Given the description of an element on the screen output the (x, y) to click on. 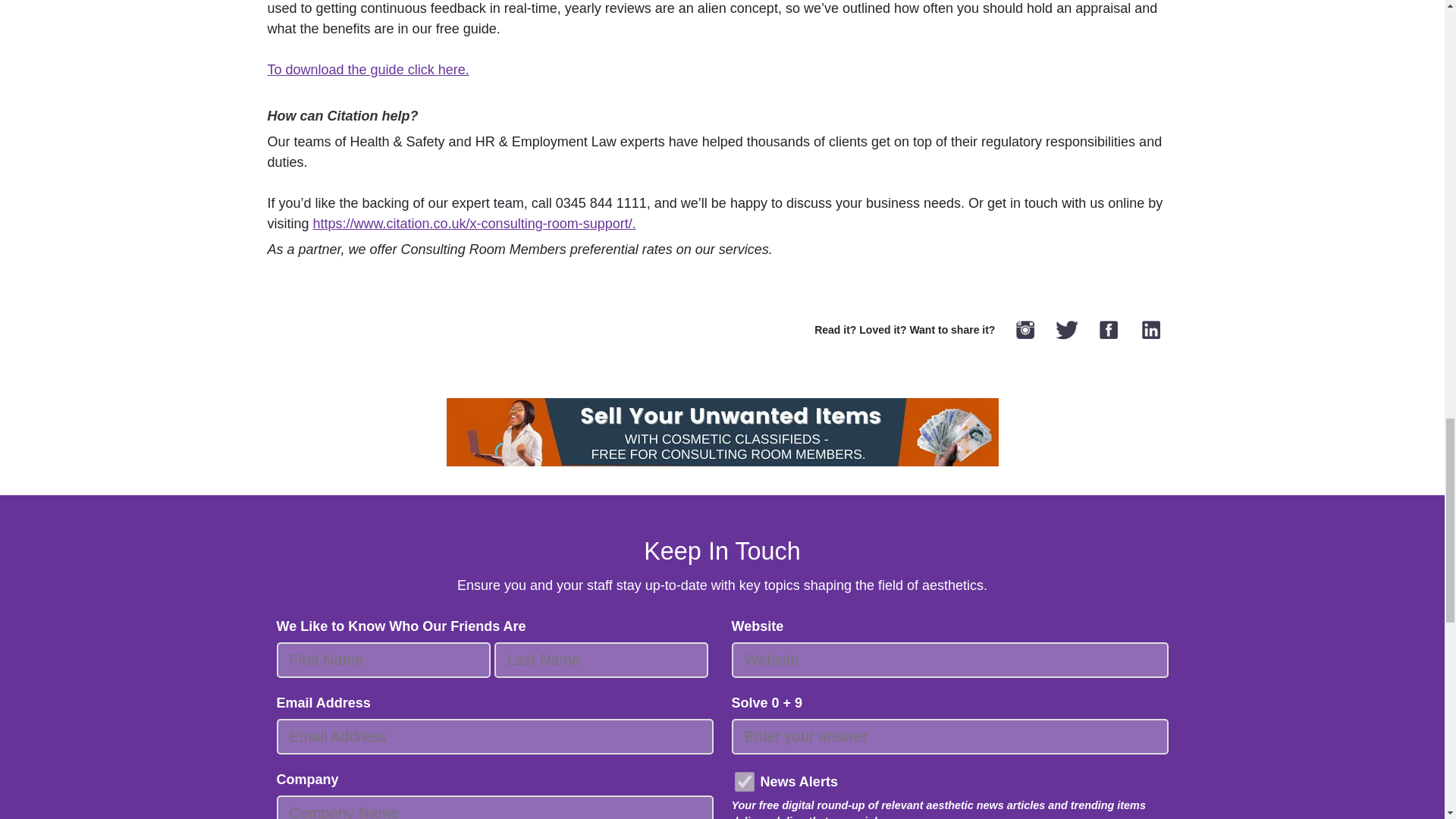
on (743, 781)
